Given the description of an element on the screen output the (x, y) to click on. 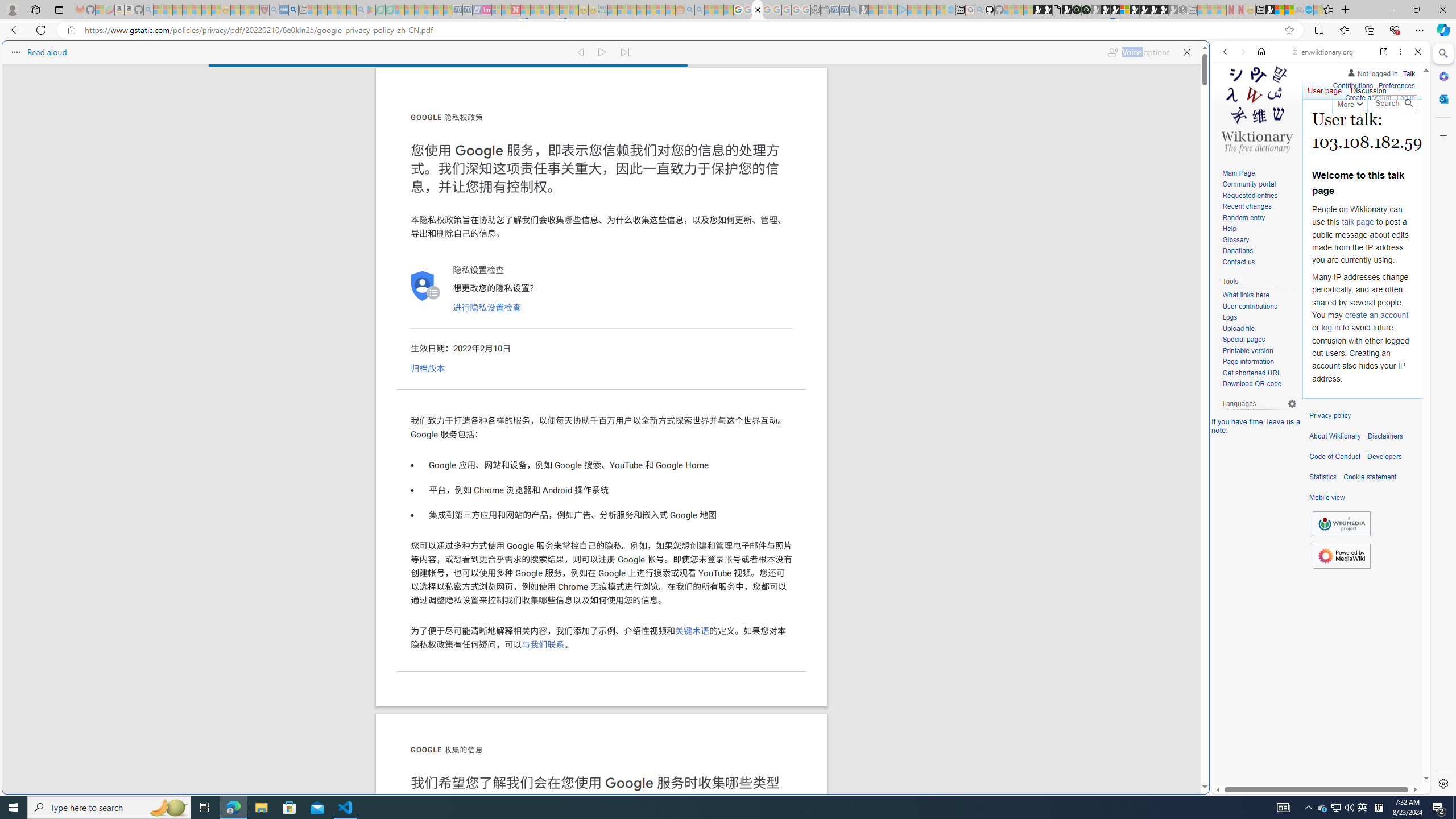
Earth has six continents not seven, radical new study claims (1288, 9)
Statistics (1322, 477)
14 Common Myths Debunked By Scientific Facts - Sleeping (534, 9)
Recent changes (1259, 206)
Local - MSN - Sleeping (254, 9)
Home | Sky Blue Bikes - Sky Blue Bikes (1118, 242)
MSN (1269, 9)
